Given the description of an element on the screen output the (x, y) to click on. 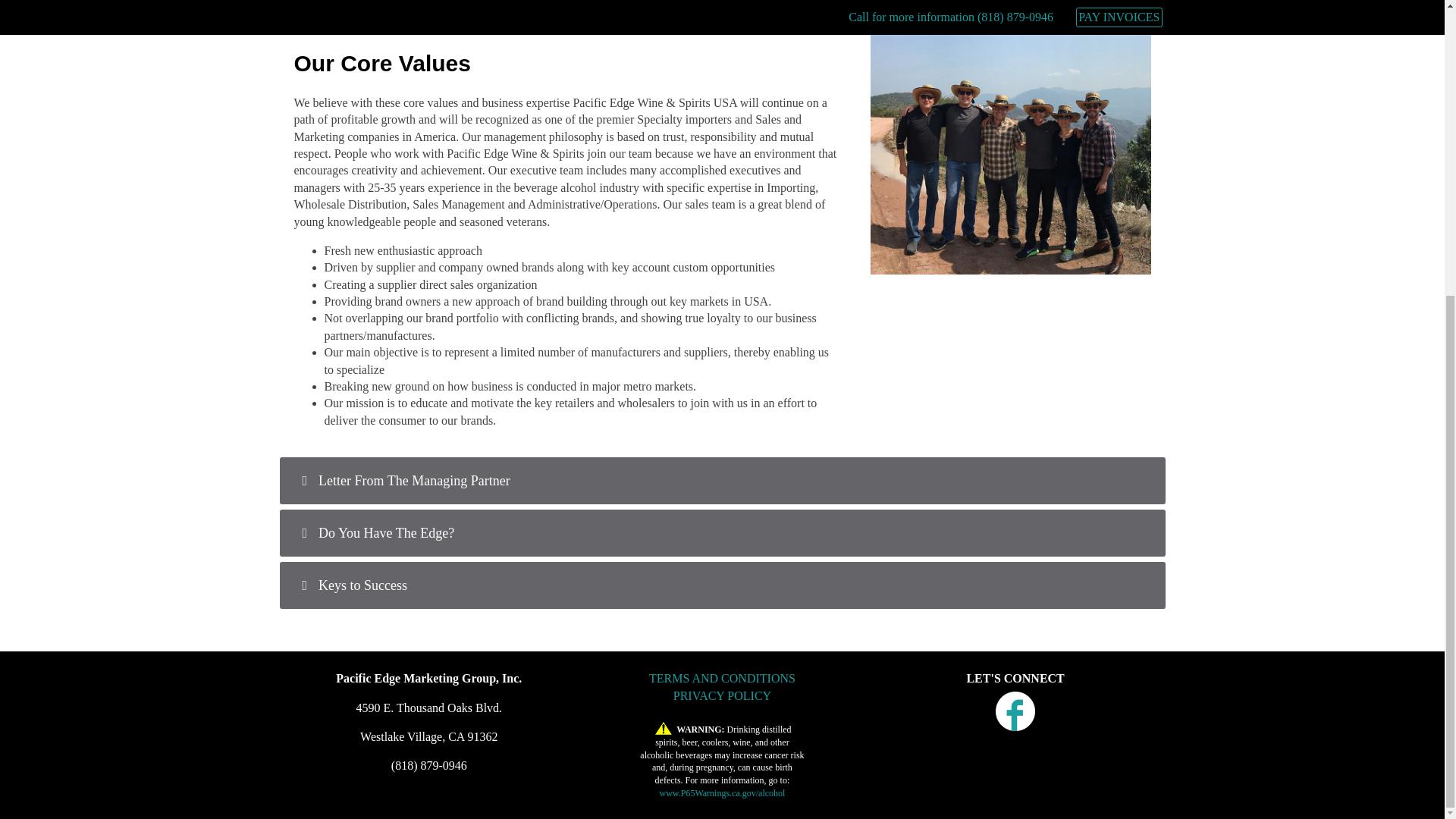
Do You Have The Edge? (722, 532)
PRIVACY POLICY (721, 695)
Letter From The Managing Partner (722, 480)
TERMS AND CONDITIONS (721, 677)
Keys to Success (722, 585)
